Given the description of an element on the screen output the (x, y) to click on. 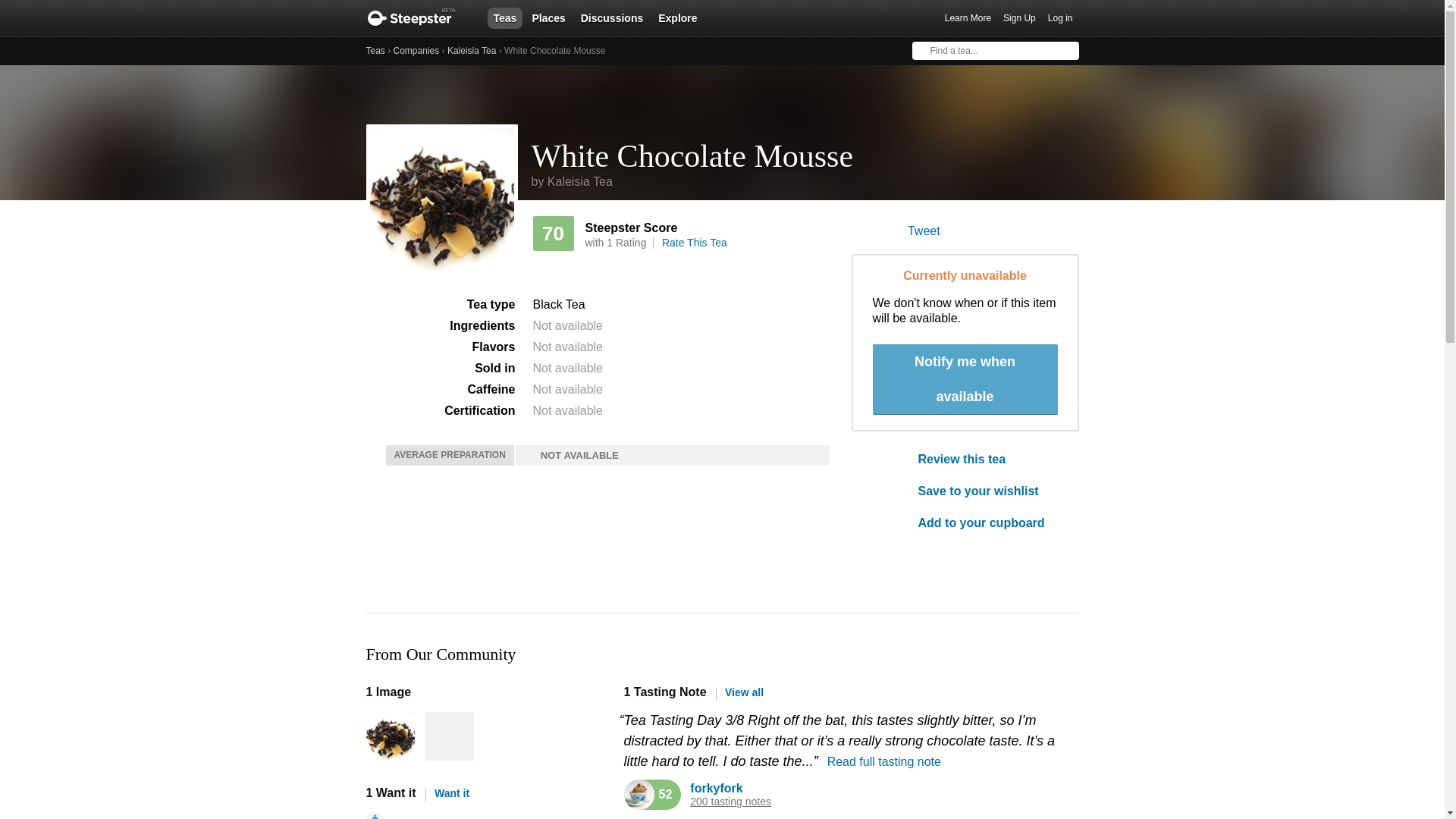
200 tasting notes (730, 801)
Kaleisia Tea (471, 50)
Black Tea (558, 304)
Want it (446, 793)
Teas (504, 17)
forkyfork (716, 787)
Save to your wishlist (986, 490)
Places (547, 17)
White Chocolate Mousse (804, 150)
Sign Up (1019, 18)
Review this tea (986, 458)
Teas (374, 50)
Discussions (612, 17)
Log in (1060, 18)
Explore (677, 17)
